Given the description of an element on the screen output the (x, y) to click on. 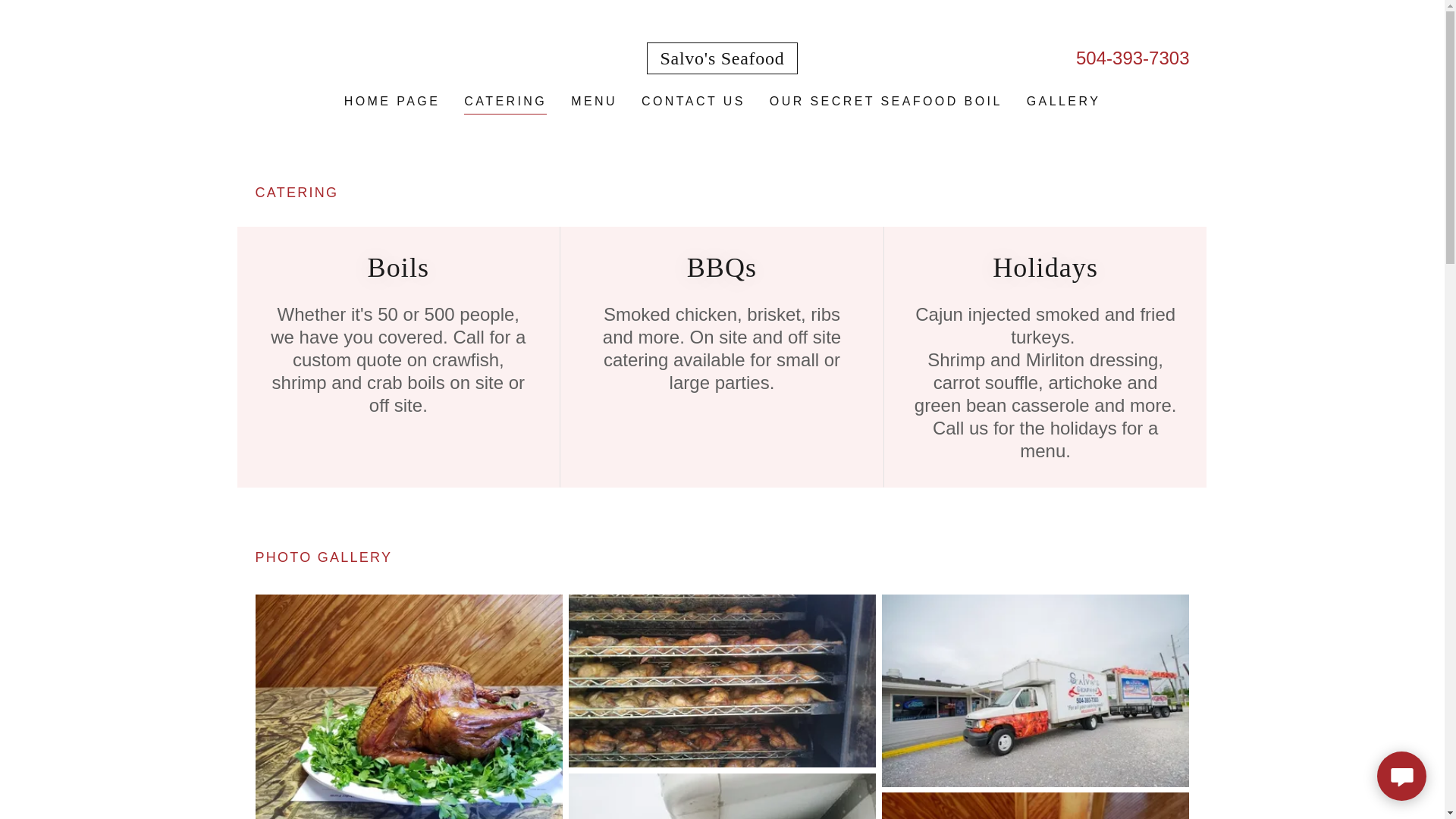
Salvo's Seafood (721, 59)
CONTACT US (693, 101)
HOME PAGE (392, 101)
MENU (593, 101)
Salvo's Seafood (721, 59)
GALLERY (1063, 101)
CATERING (505, 103)
OUR SECRET SEAFOOD BOIL (886, 101)
504-393-7303 (1132, 57)
